Given the description of an element on the screen output the (x, y) to click on. 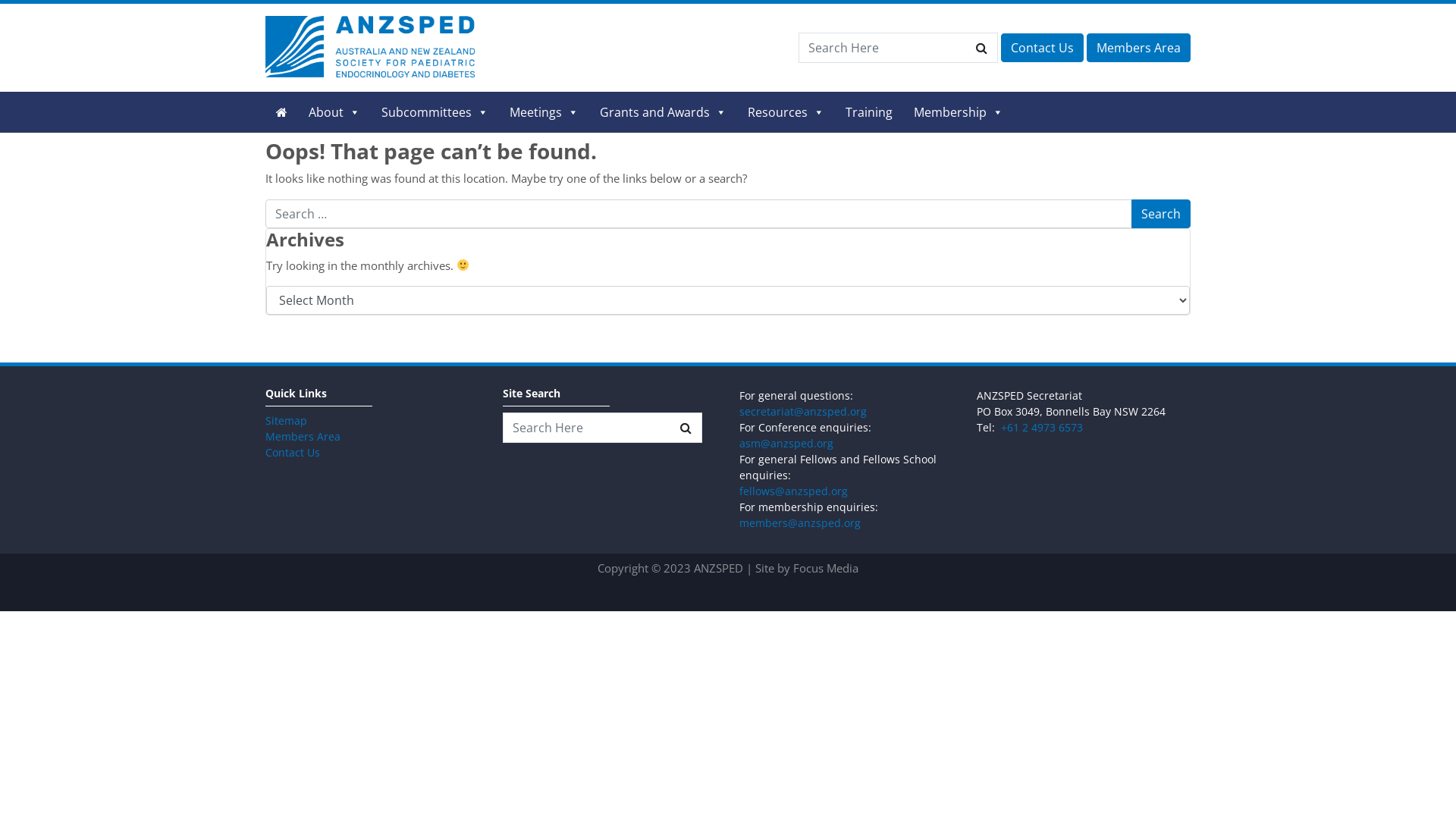
members@anzsped.org Element type: text (799, 522)
Resources Element type: text (785, 111)
asm@anzsped.org Element type: text (786, 443)
Focus Media Element type: text (825, 567)
+61 2 4973 6573 Element type: text (1041, 427)
Search Element type: text (1160, 213)
secretariat@anzsped.org Element type: text (802, 411)
Meetings Element type: text (543, 111)
Contact Us Element type: text (292, 452)
Members Area Element type: text (302, 436)
Grants and Awards Element type: text (663, 111)
Membership Element type: text (958, 111)
About Element type: text (334, 111)
fellows@anzsped.org Element type: text (793, 490)
Subcommittees Element type: text (434, 111)
Training Element type: text (868, 111)
Sitemap Element type: text (286, 420)
Contact Us Element type: text (1042, 47)
Members Area Element type: text (1138, 47)
